Given the description of an element on the screen output the (x, y) to click on. 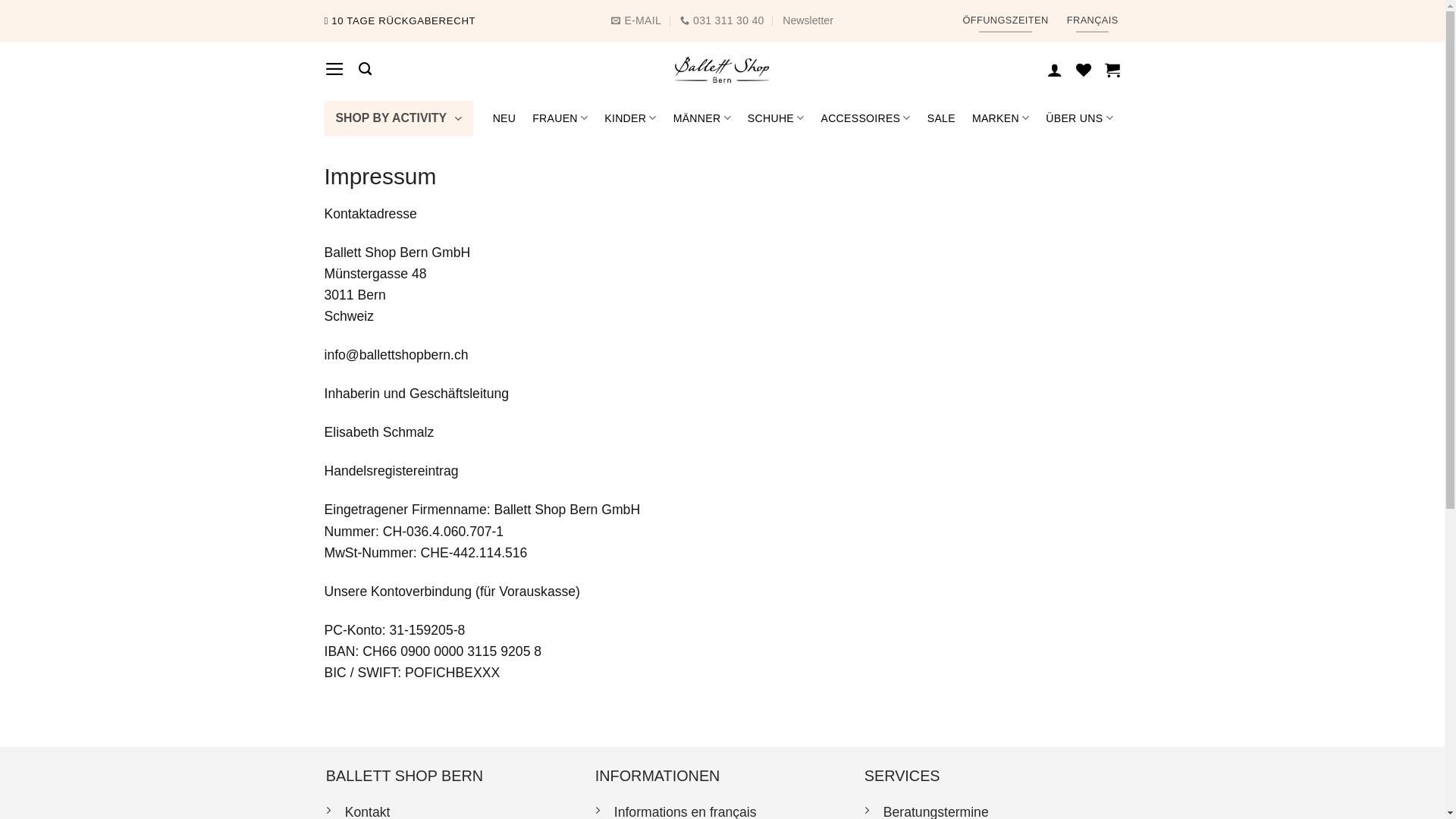
Newsletter Element type: text (807, 20)
SALE Element type: text (941, 117)
NEU Element type: text (504, 117)
ACCESSOIRES Element type: text (865, 117)
Warenkorb Element type: hover (1112, 69)
E-MAIL Element type: text (636, 20)
Zum Inhalt springen Element type: text (0, 0)
FRAUEN Element type: text (559, 117)
KINDER Element type: text (629, 117)
031 311 30 40 Element type: text (722, 20)
SCHUHE Element type: text (775, 117)
MARKEN Element type: text (1000, 117)
